Given the description of an element on the screen output the (x, y) to click on. 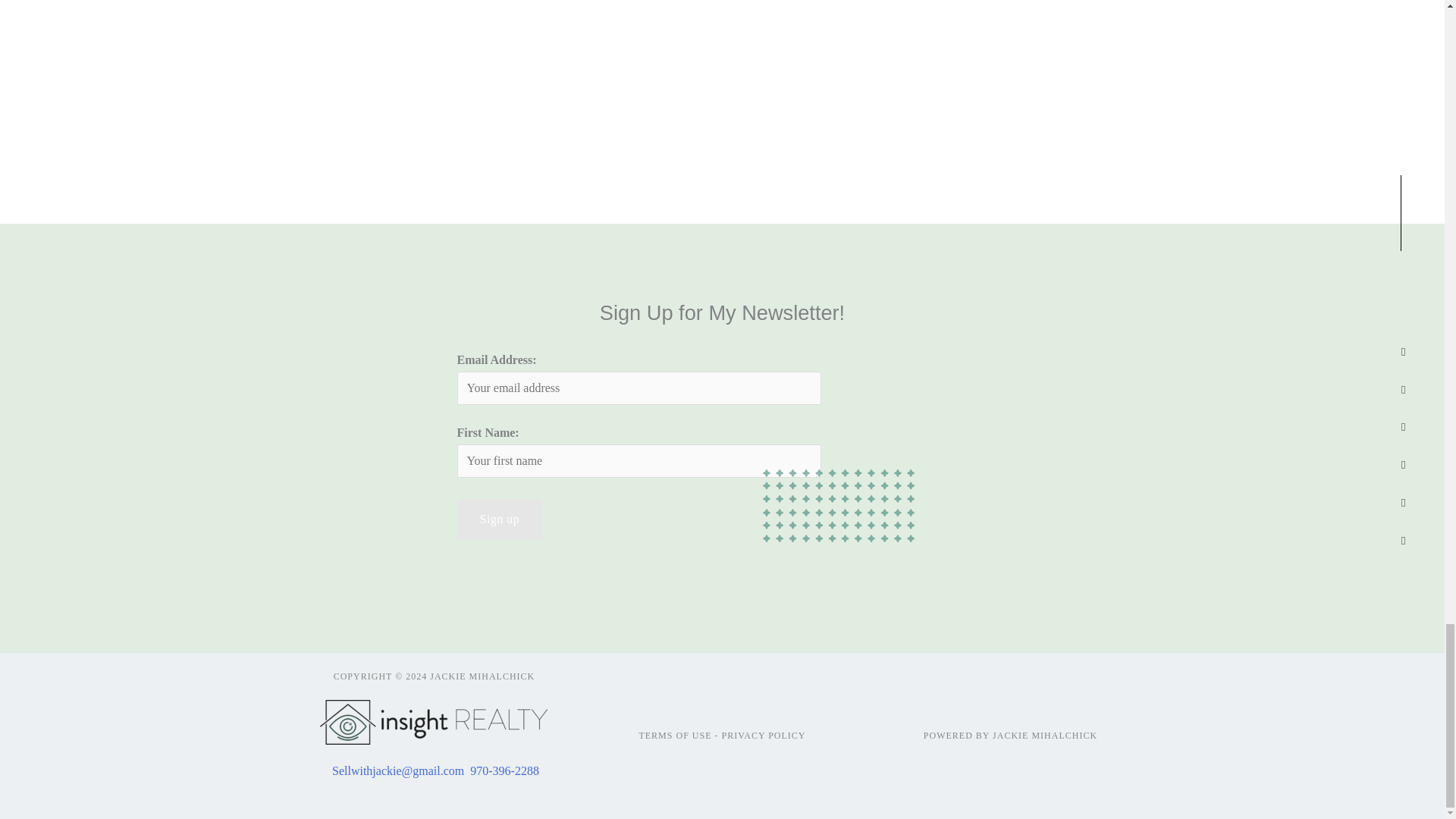
Sign up (499, 518)
TERMS OF USE - PRIVACY POLICY (722, 735)
Sign up (499, 518)
